Given the description of an element on the screen output the (x, y) to click on. 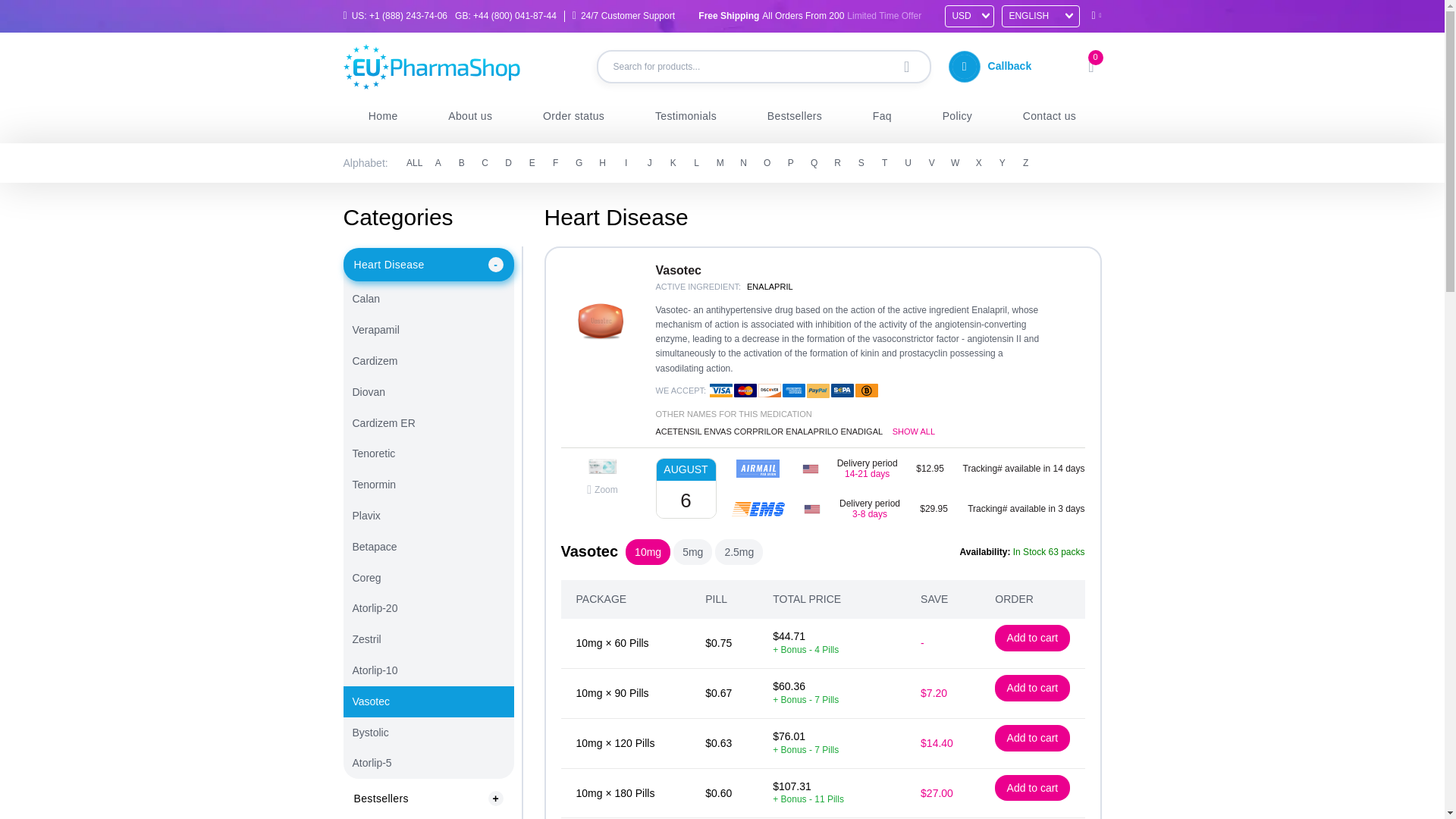
faq (882, 115)
home (382, 115)
bestsellers (794, 115)
about us (470, 115)
I (625, 162)
A (437, 162)
Callback (996, 66)
testimonials (686, 115)
ALL (414, 162)
policy (957, 115)
B (461, 162)
D (508, 162)
N (743, 162)
F (555, 162)
M (720, 162)
